Given the description of an element on the screen output the (x, y) to click on. 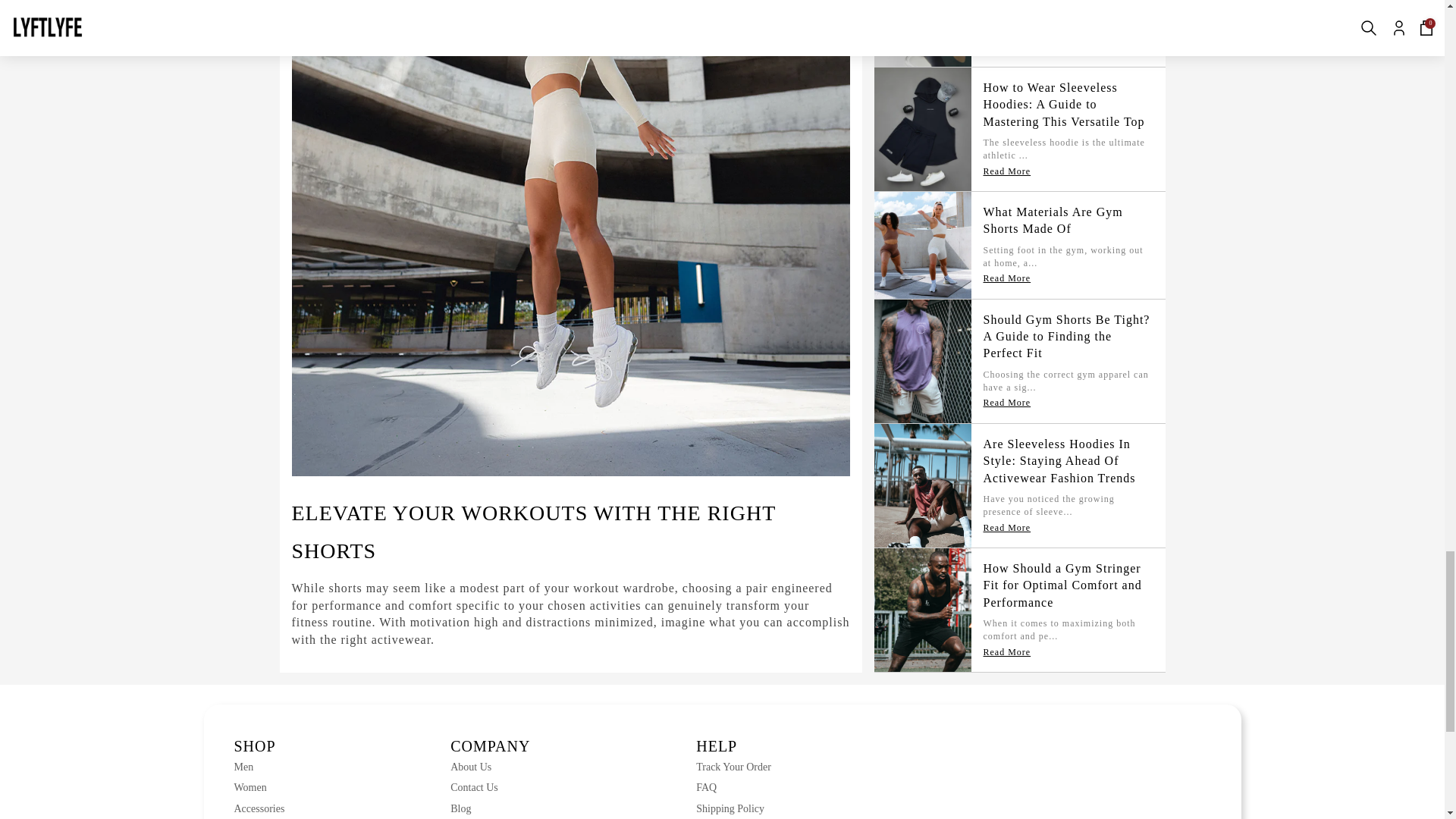
About Us (489, 767)
FAQ (733, 787)
Contact Us (489, 787)
Blog (489, 808)
Accessories (257, 808)
Men (257, 767)
Track Your Order (733, 767)
Shipping Policy (733, 808)
Women (257, 787)
